Given the description of an element on the screen output the (x, y) to click on. 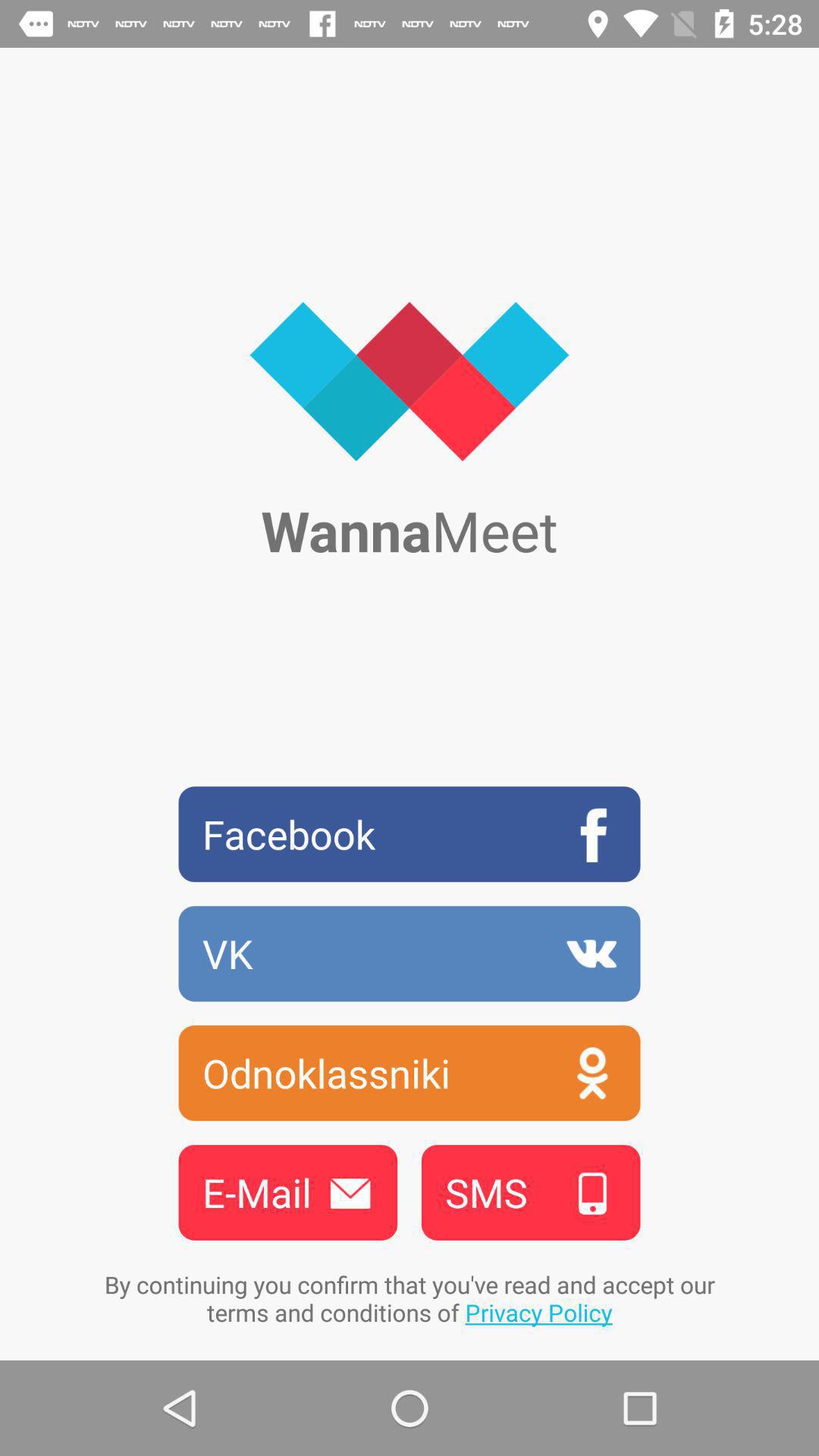
scroll to sms item (530, 1192)
